Given the description of an element on the screen output the (x, y) to click on. 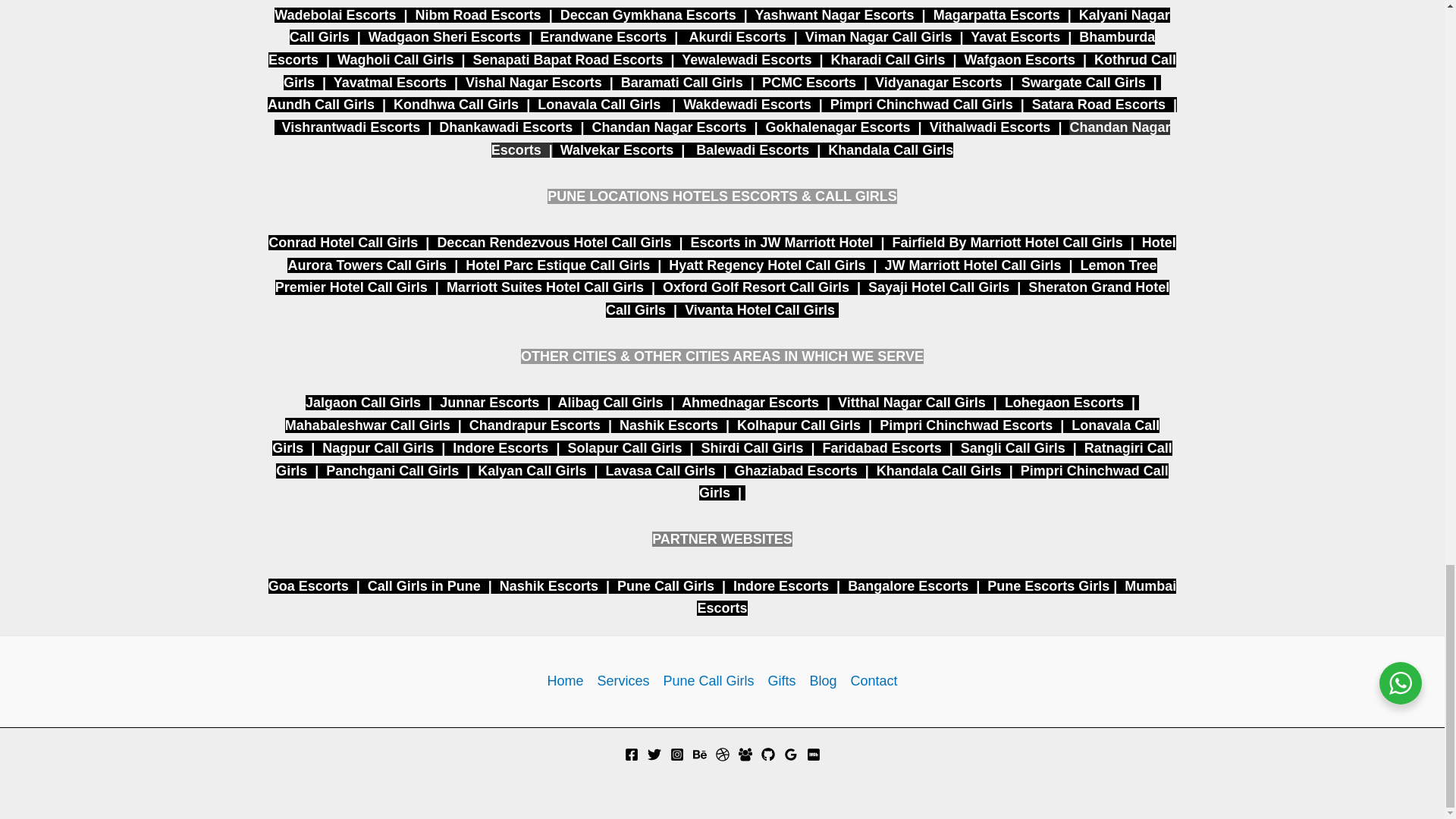
Wadgaon Sheri Escorts (444, 37)
Erandwane Escorts (603, 37)
Kalyani Nagar Call Girls (729, 26)
Nibm Road Escorts (477, 14)
Wadebolai Escorts (335, 14)
Deccan Gymkhana Escorts (648, 14)
Magarpatta Escorts (996, 14)
Yashwant Nagar Escorts (834, 14)
